Given the description of an element on the screen output the (x, y) to click on. 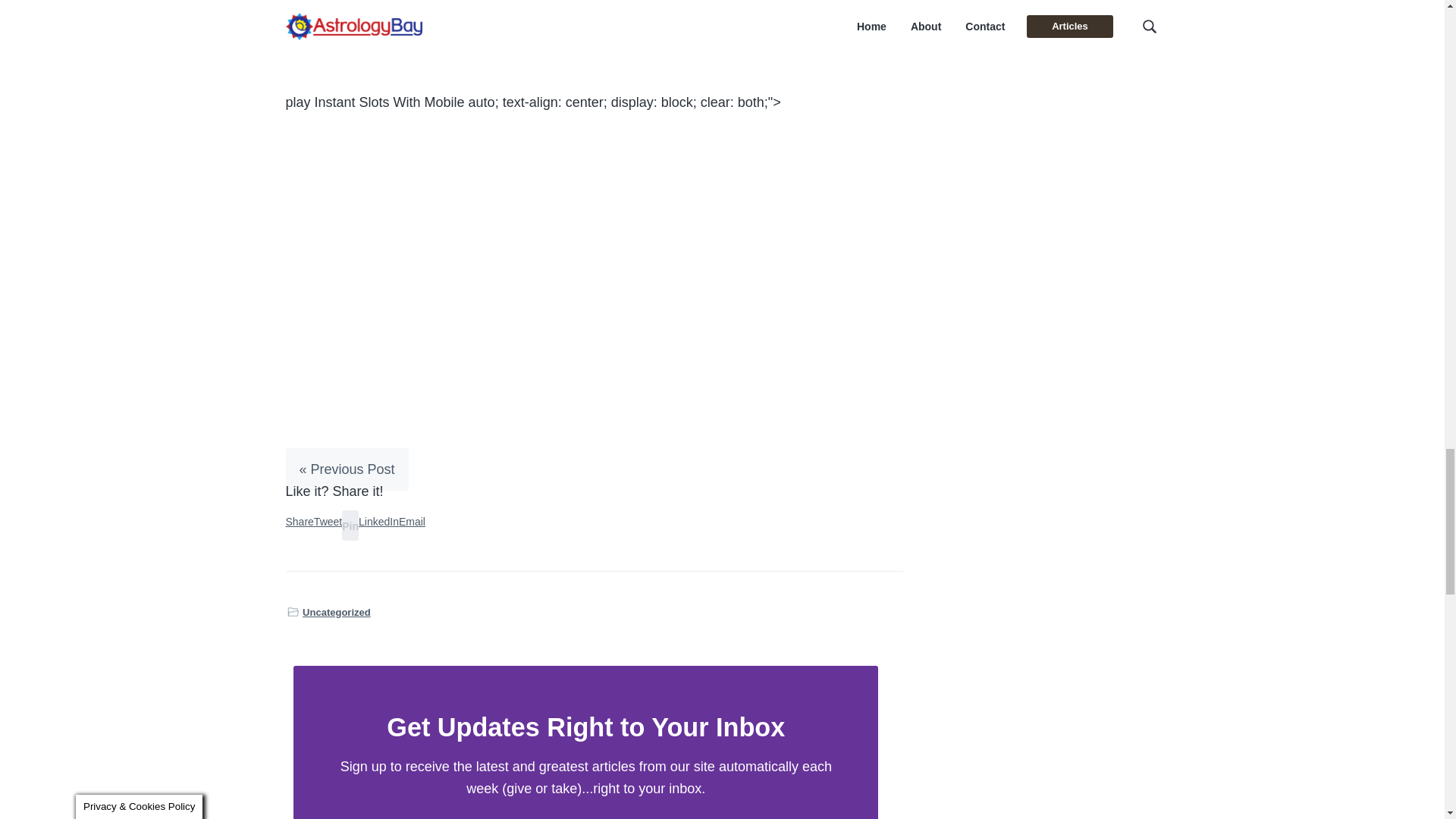
Share (299, 521)
Tweet (328, 521)
Jackpot Games At Bitstarz Casino (388, 38)
Jackpot Games At Bitstarz Casino (388, 38)
Uk Online Casino Reviews By Experts (400, 17)
Email (411, 521)
Popular Online Casinos With 200 (385, 1)
Popular Online Casinos With 200 (385, 1)
Uncategorized (336, 611)
LinkedIn (378, 521)
Uk Online Casino Reviews By Experts (400, 17)
Share on Facebook (299, 521)
Share on Twitter (328, 521)
